Given the description of an element on the screen output the (x, y) to click on. 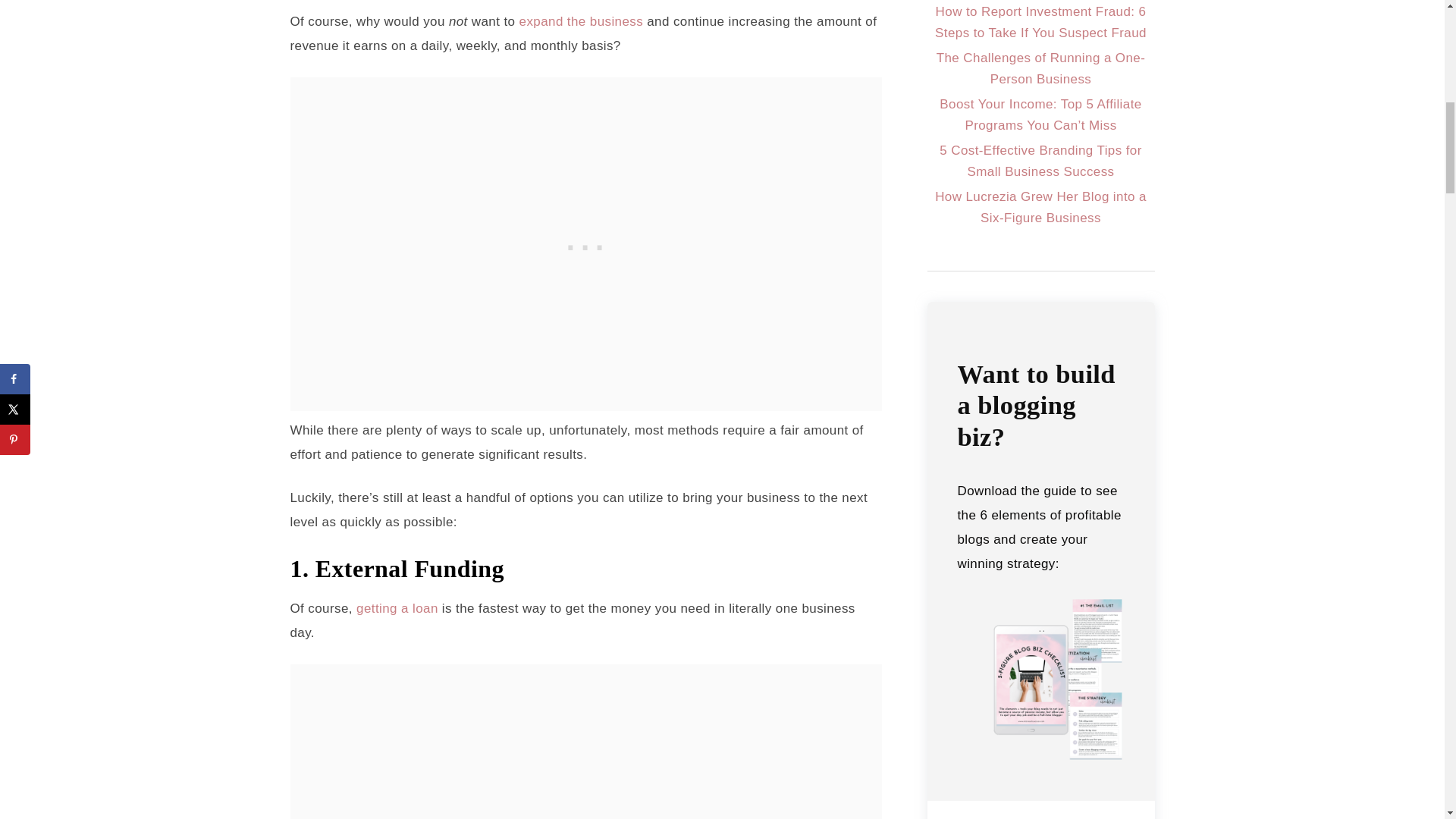
getting a loan (397, 608)
expand the business (581, 21)
